Given the description of an element on the screen output the (x, y) to click on. 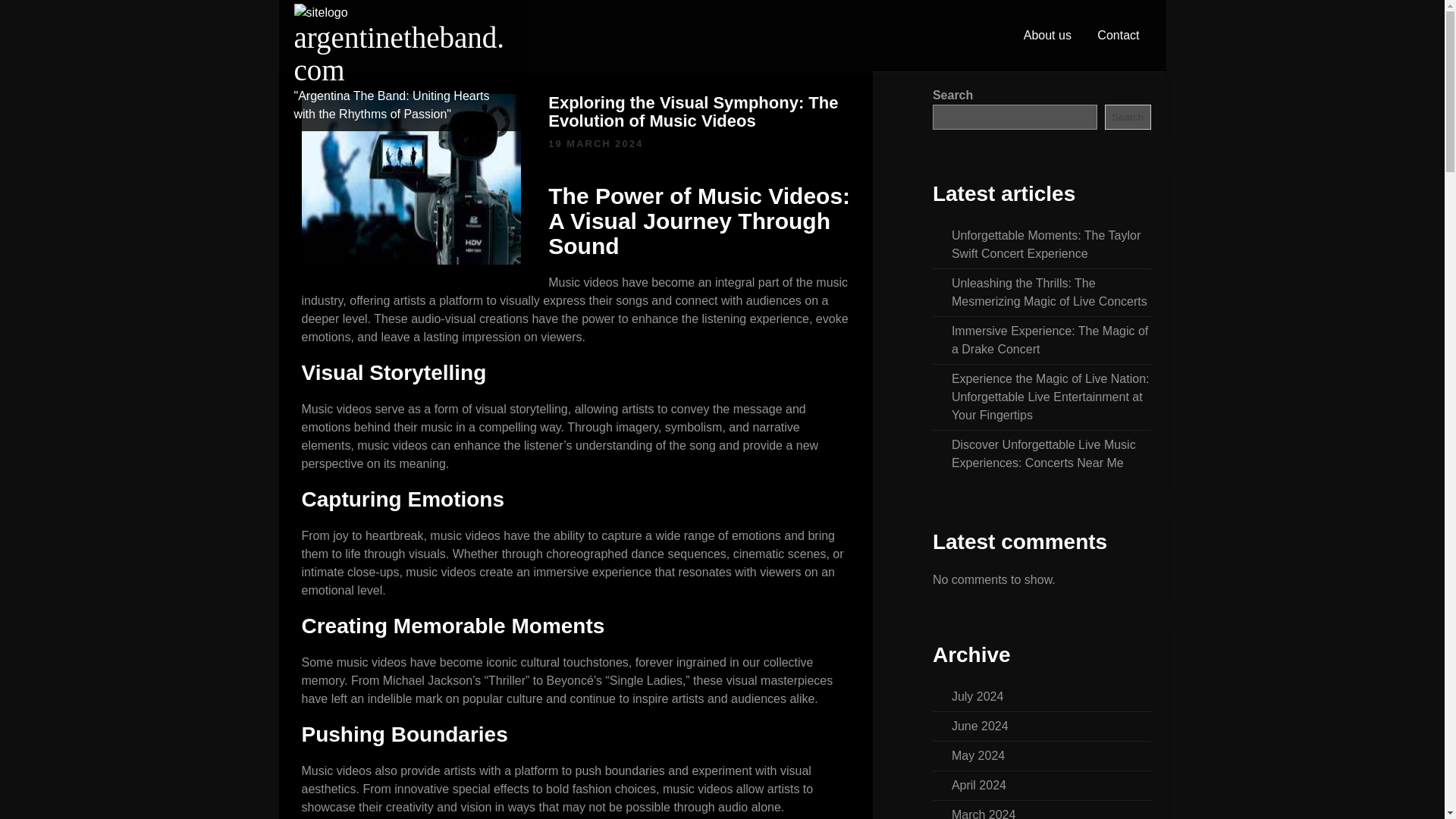
argentinetheband.com (399, 53)
Search (1128, 116)
Immersive Experience: The Magic of a Drake Concert (1050, 339)
About us (1047, 35)
Unforgettable Moments: The Taylor Swift Concert Experience (1046, 244)
Contact (1118, 35)
